Given the description of an element on the screen output the (x, y) to click on. 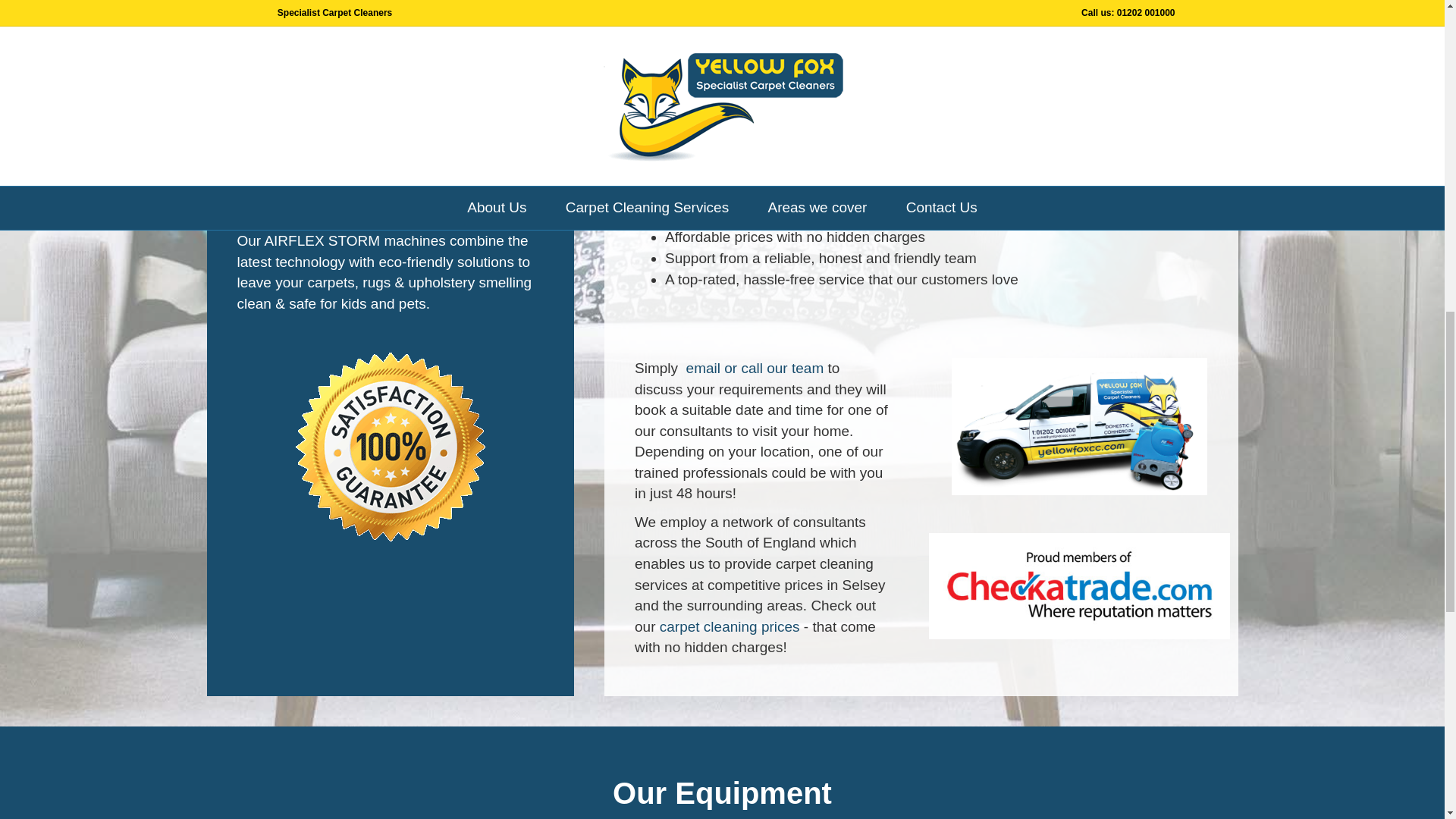
Checkatrade-Logo (1079, 586)
hundred-percent-250 (389, 446)
01243 215777 (870, 34)
VAN-WITH-GRAPHICS-wide (1080, 425)
